Given the description of an element on the screen output the (x, y) to click on. 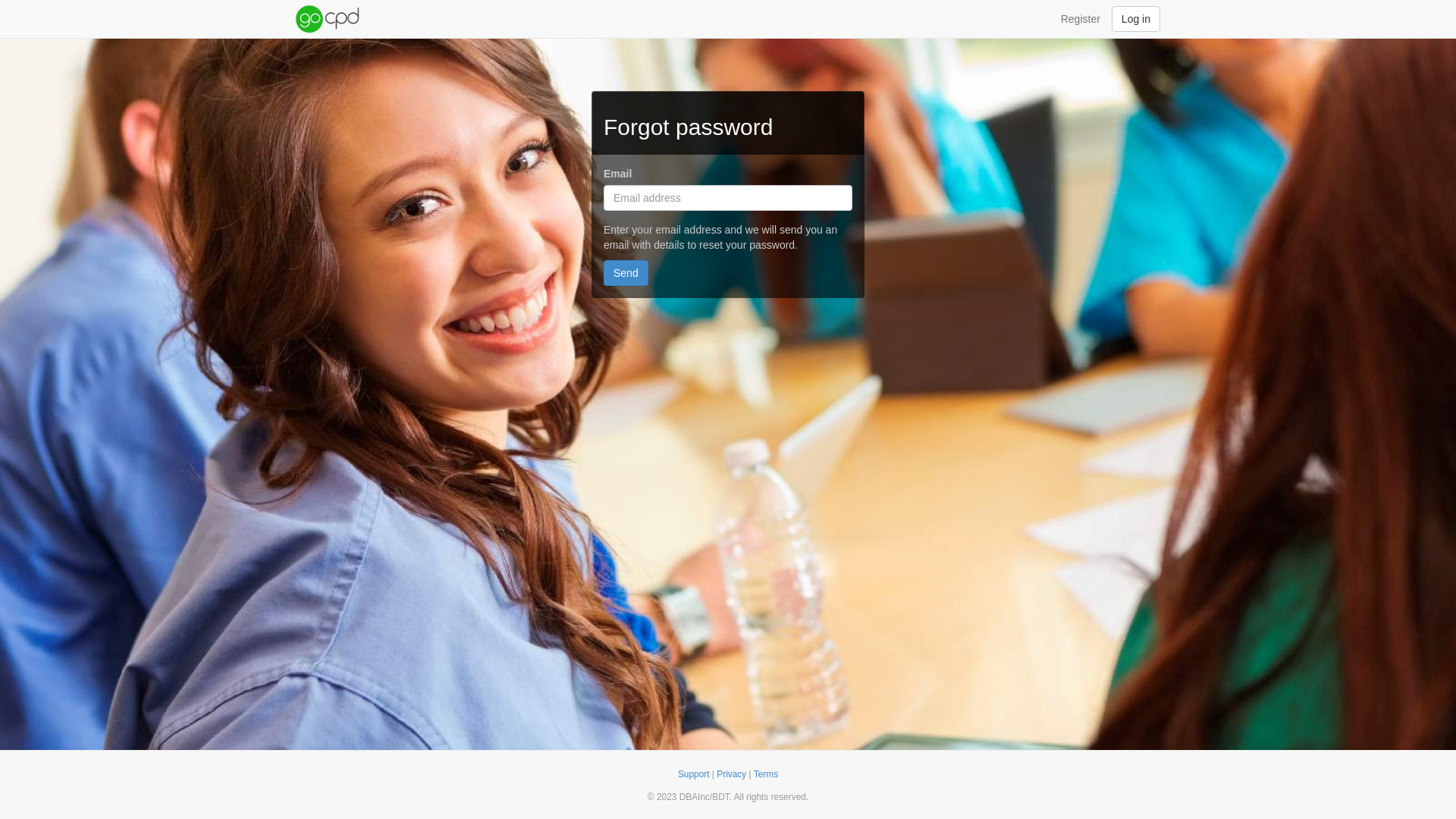
Privacy Element type: text (731, 773)
Support Element type: text (693, 773)
  Element type: text (328, 18)
Register Element type: text (1080, 18)
Terms Element type: text (765, 773)
Send Element type: text (625, 272)
Log in Element type: text (1135, 18)
